Given the description of an element on the screen output the (x, y) to click on. 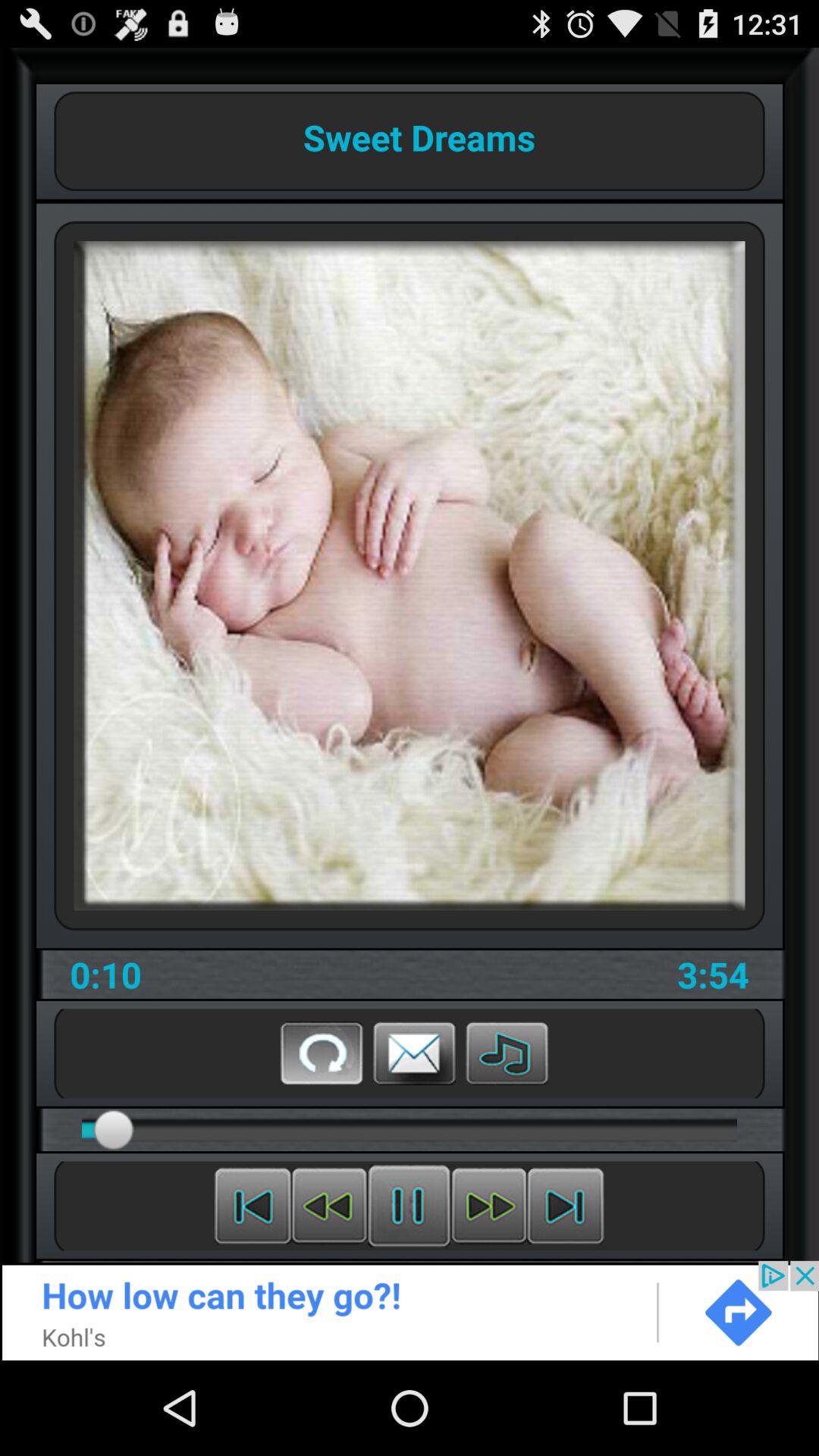
restart song (321, 1053)
